Given the description of an element on the screen output the (x, y) to click on. 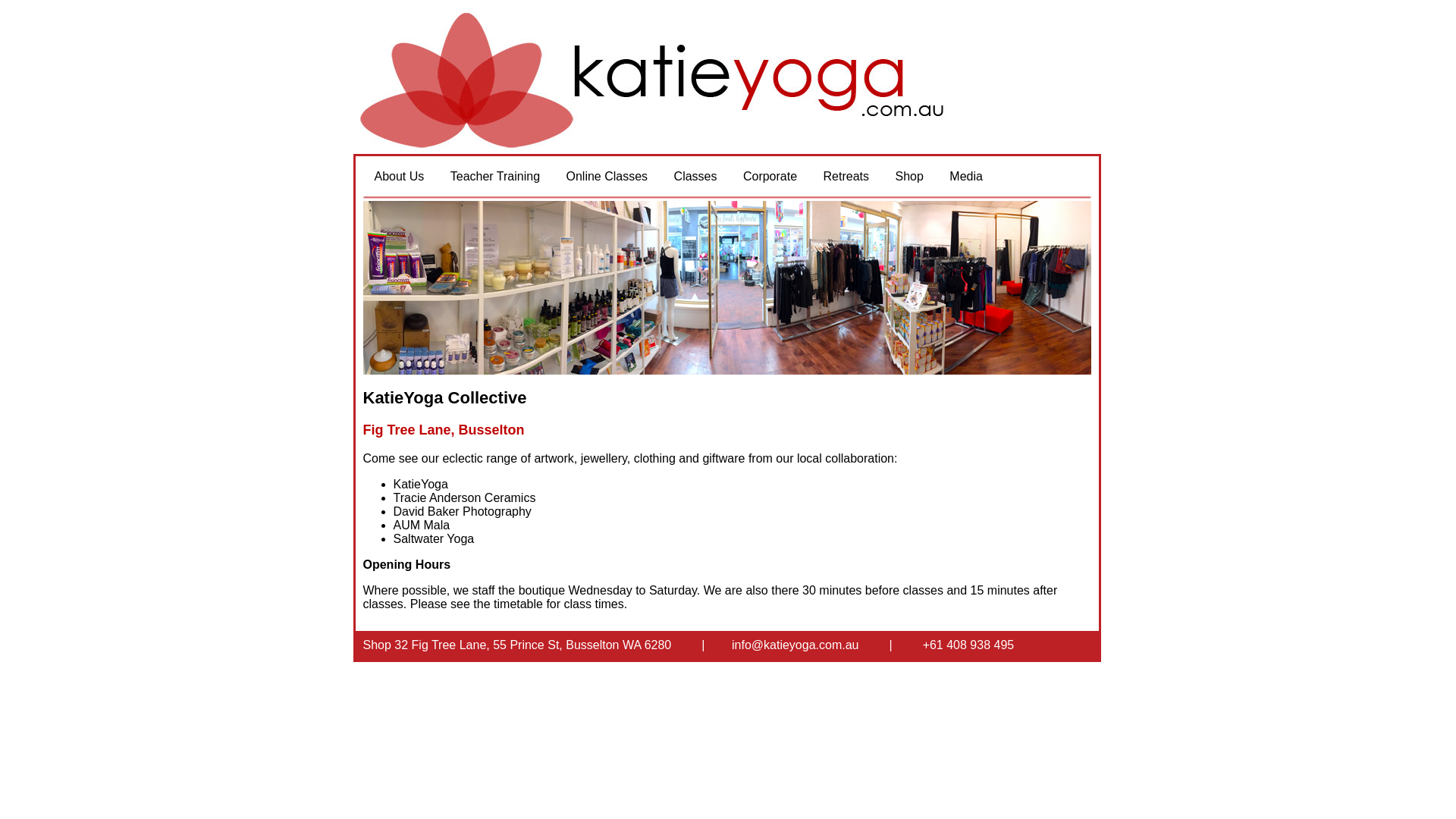
Shop Element type: text (908, 176)
timetable Element type: text (517, 603)
Corporate Element type: text (769, 176)
Online Classes Element type: text (607, 176)
About Us Element type: text (398, 176)
info@katieyoga.com.au Element type: text (794, 644)
Retreats Element type: text (846, 176)
Classes Element type: text (695, 176)
Teacher Training Element type: text (495, 176)
Shop 32 Fig Tree Lane, 55 Prince St, Busselton WA 6280 Element type: text (516, 644)
Media Element type: text (966, 176)
